Given the description of an element on the screen output the (x, y) to click on. 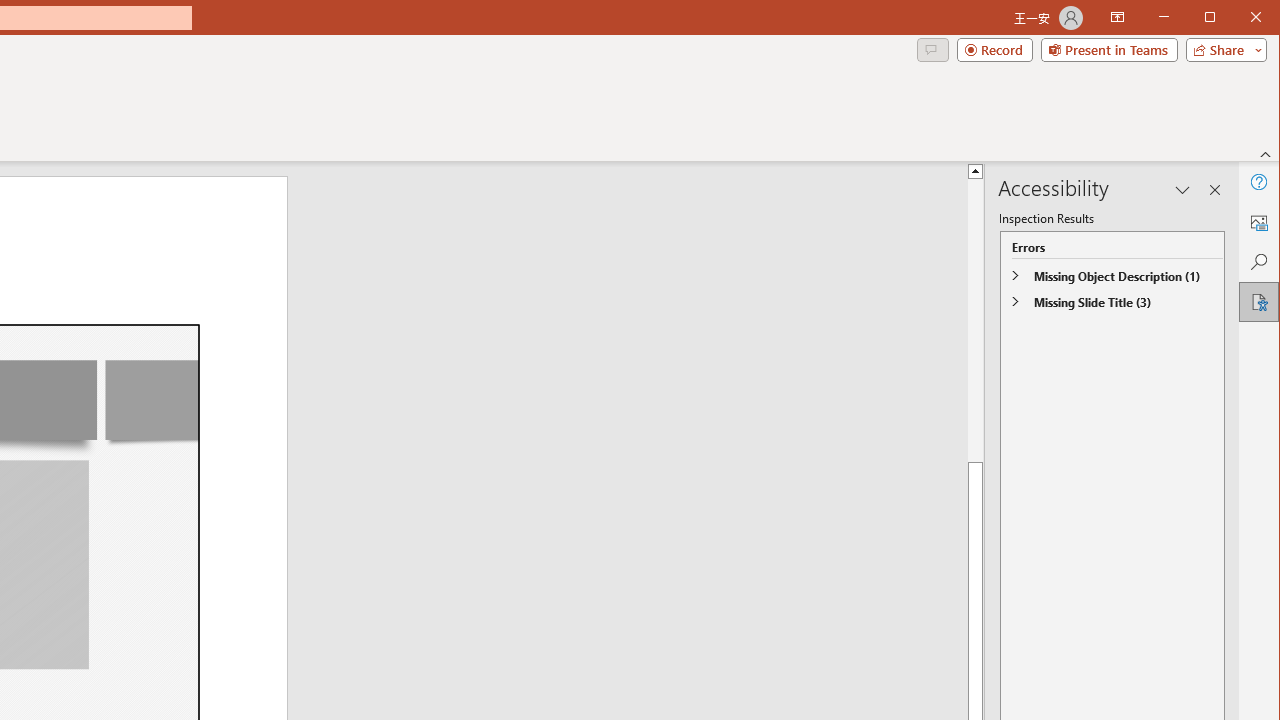
Alt Text (1258, 221)
